Given the description of an element on the screen output the (x, y) to click on. 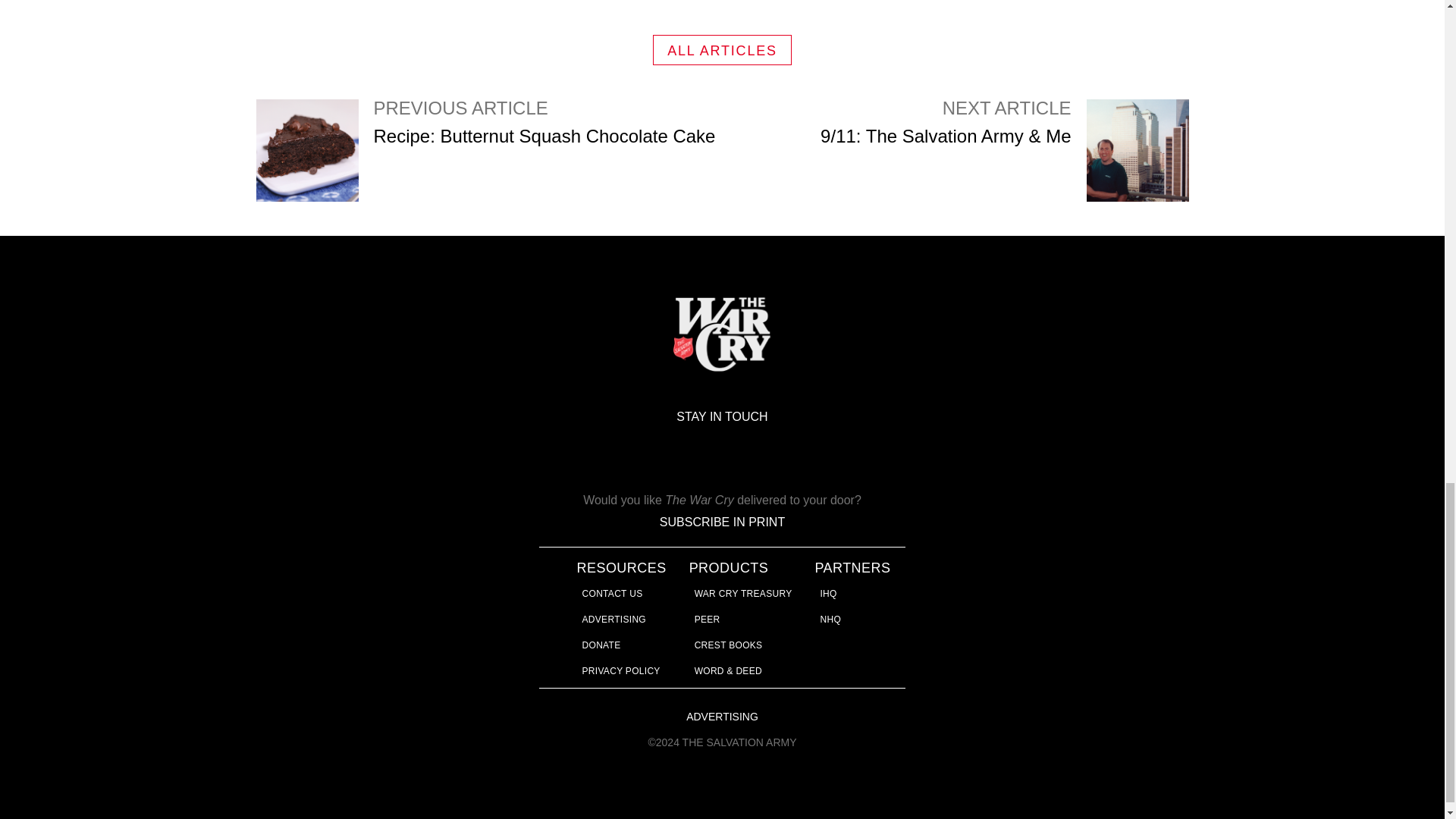
ALL ARTICLES (489, 150)
